Given the description of an element on the screen output the (x, y) to click on. 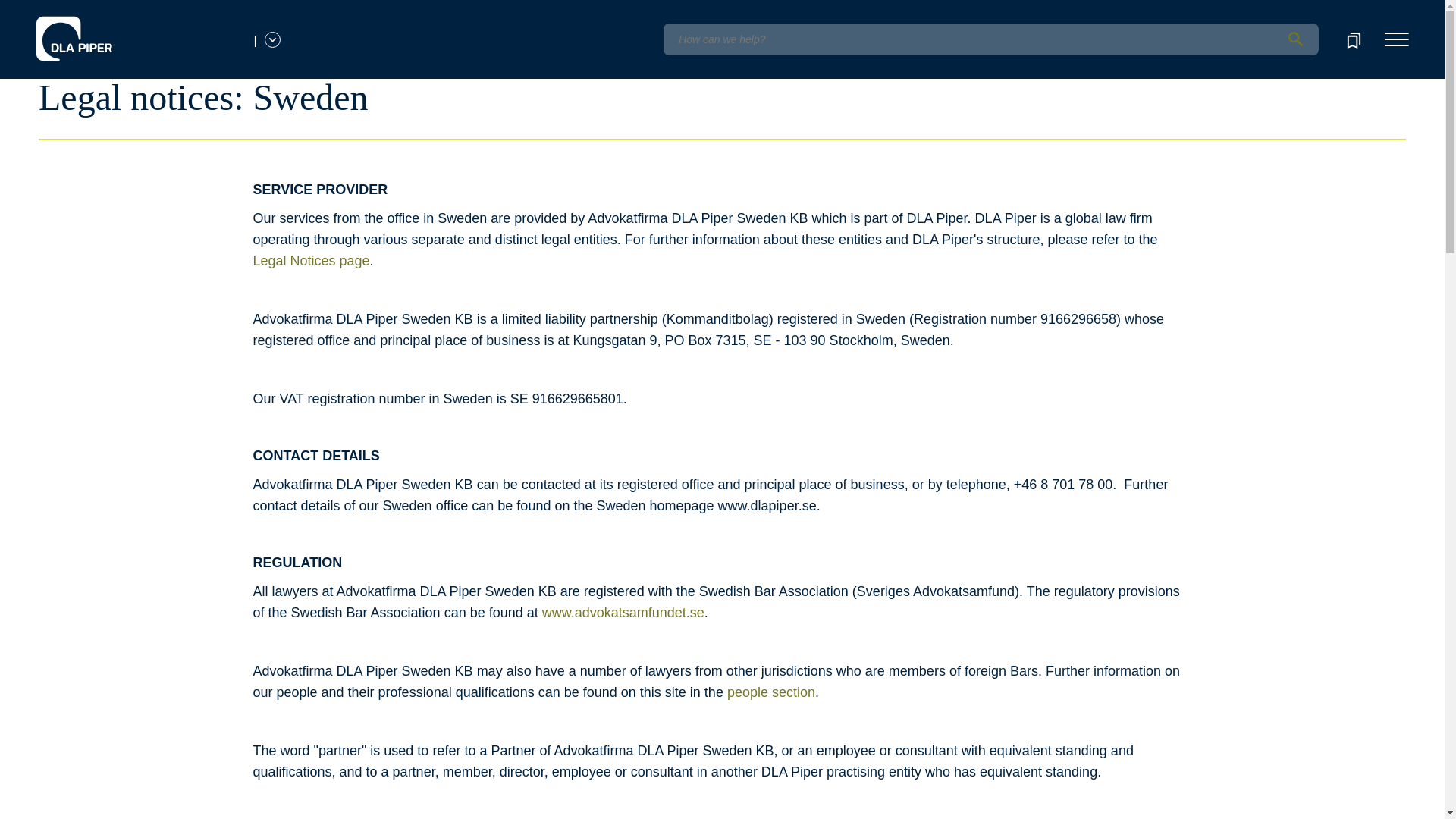
people section (770, 692)
Insert a query. Press enter to send (990, 39)
www.advokatsamfundet.se (622, 612)
Legal Notices page (310, 260)
